Given the description of an element on the screen output the (x, y) to click on. 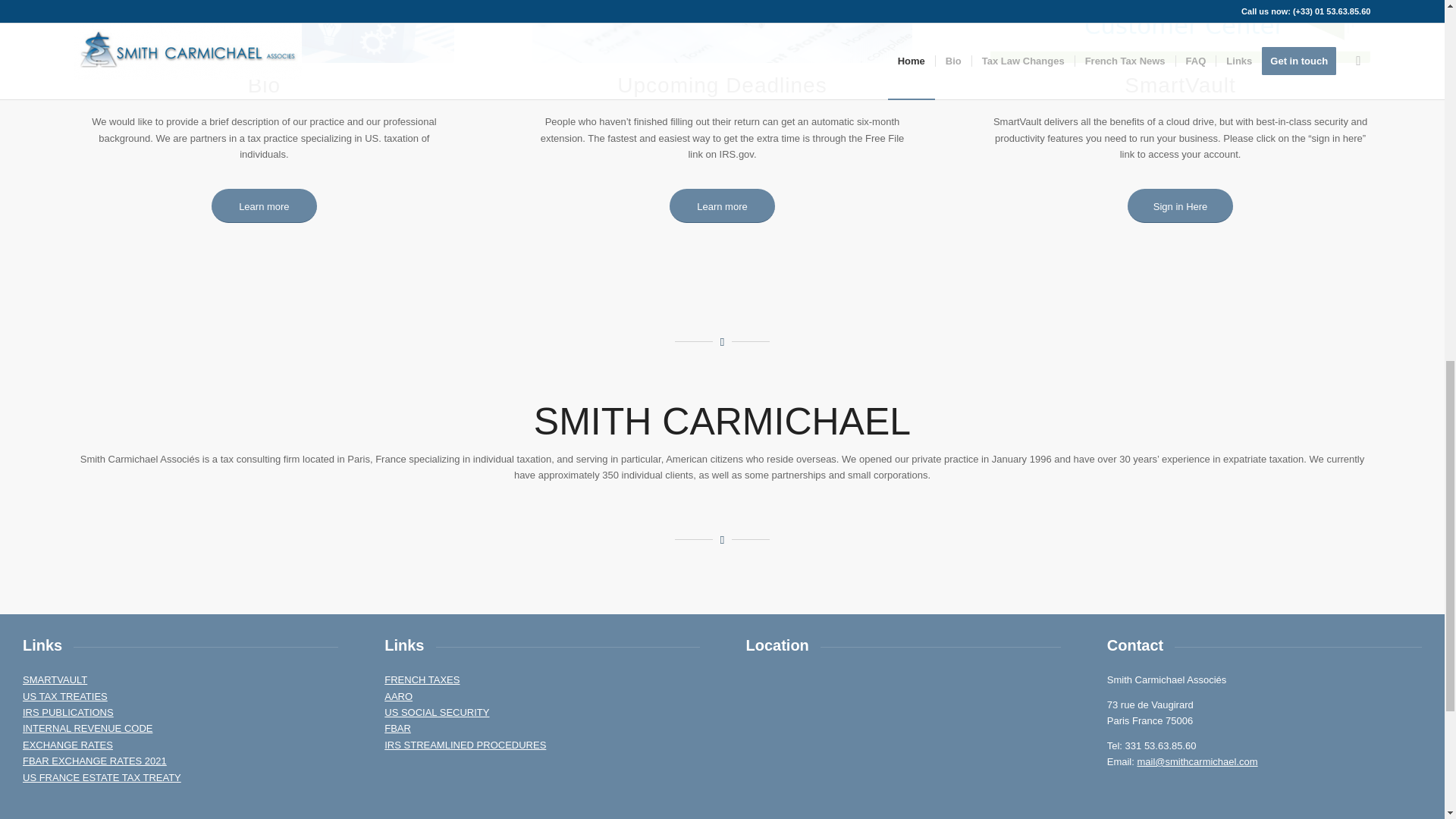
Upcoming Deadlines (722, 31)
Learn more (264, 206)
SmartVault Customer Center (1180, 31)
EXCHANGE RATES (68, 745)
Smith Carmichael Bio (264, 31)
IRS PUBLICATIONS (68, 712)
Learn more (721, 206)
SMARTVAULT (55, 679)
Sign in Here (1179, 206)
US TAX TREATIES (65, 696)
